Given the description of an element on the screen output the (x, y) to click on. 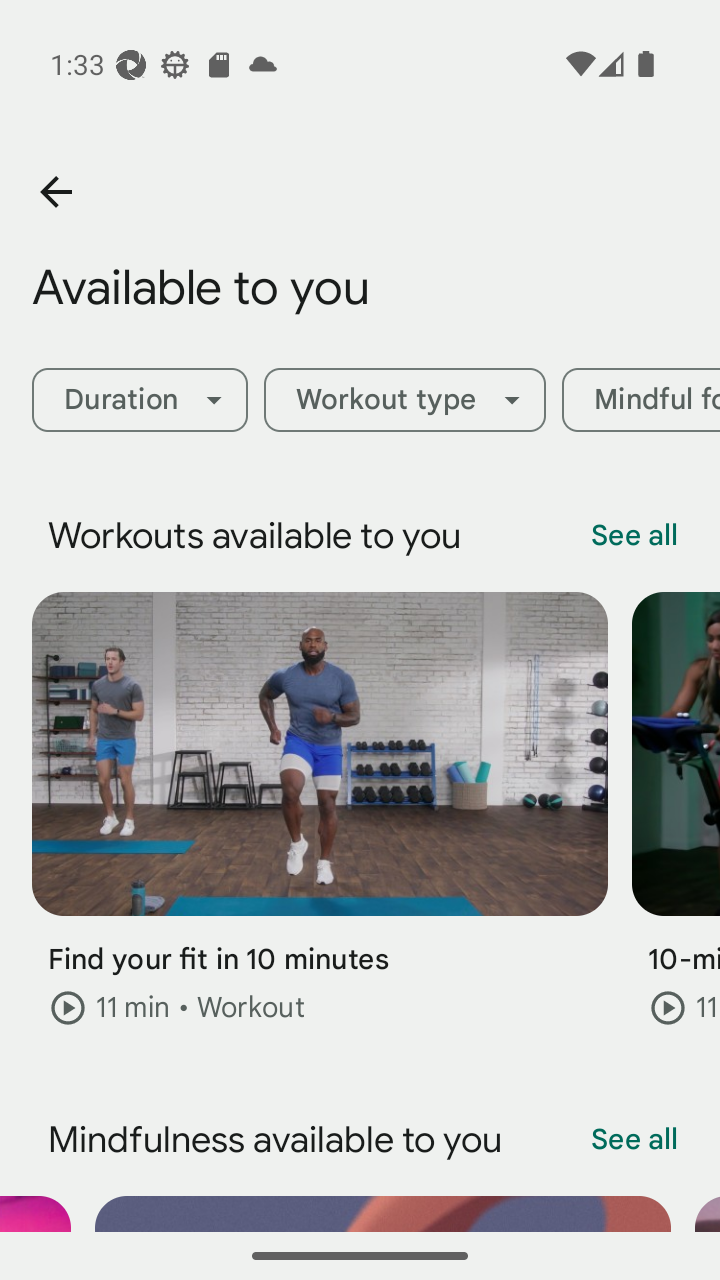
Go back (55, 191)
Duration (139, 400)
Workout type (404, 400)
Mindful focus (641, 400)
Workouts available to you (384, 535)
Mindfulness available to you (384, 1139)
